Given the description of an element on the screen output the (x, y) to click on. 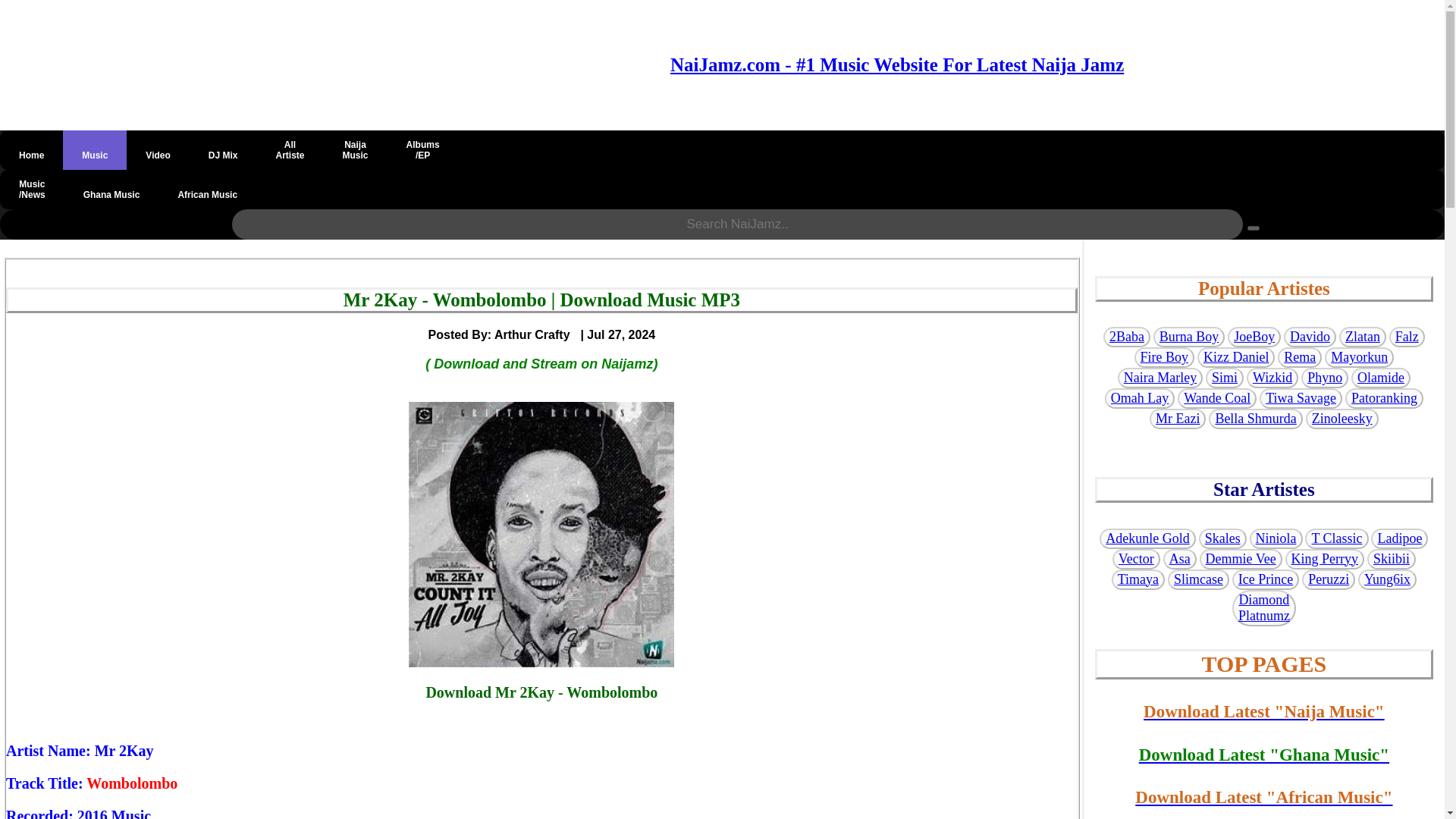
African Music (207, 189)
DJ Mix (223, 149)
Search source code (1253, 228)
Video (157, 149)
Music (94, 149)
Ghana Music (111, 189)
Mr 2Kay (124, 750)
Home (290, 149)
Posted By: Arthur Crafty   (31, 149)
2016 Music (355, 149)
